Given the description of an element on the screen output the (x, y) to click on. 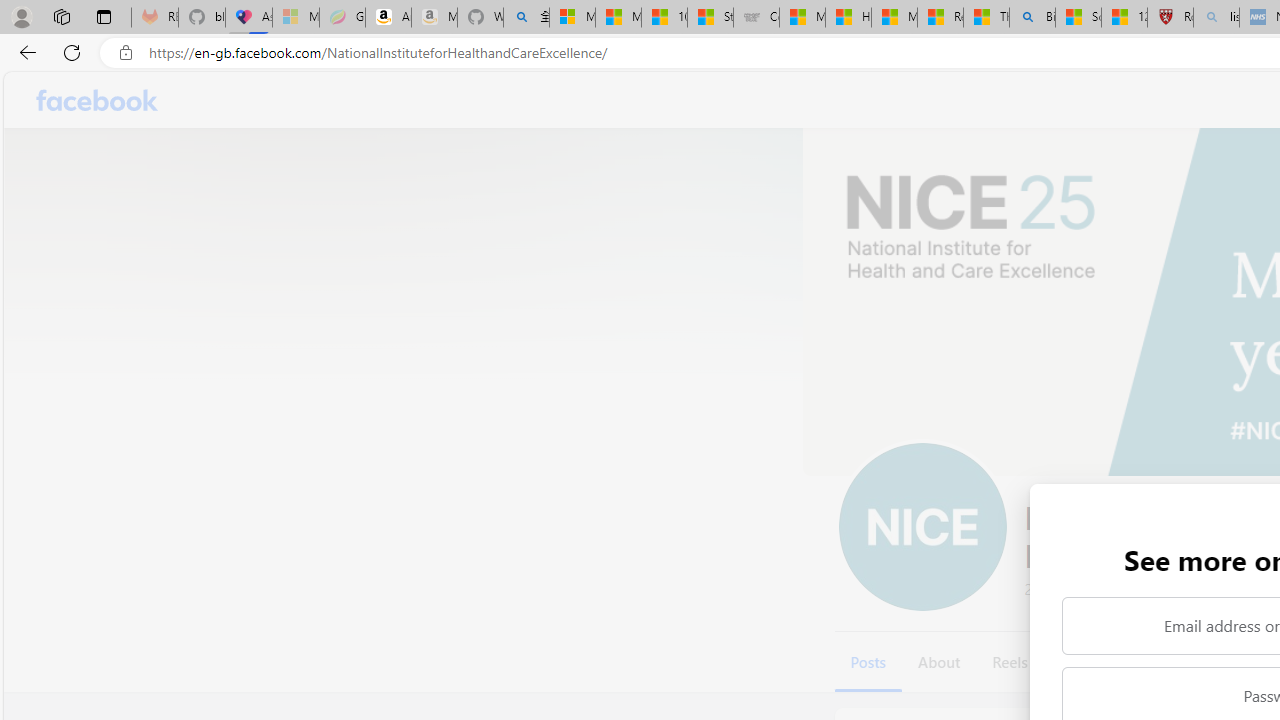
list of asthma inhalers uk - Search - Sleeping (1216, 17)
Microsoft-Report a Concern to Bing - Sleeping (295, 17)
Facebook (97, 99)
Recipes - MSN (939, 17)
View site information (125, 53)
How I Got Rid of Microsoft Edge's Unnecessary Features (848, 17)
Stocks - MSN (710, 17)
Asthma Inhalers: Names and Types (249, 17)
Robert H. Shmerling, MD - Harvard Health (1170, 17)
Combat Siege (756, 17)
Microsoft Start (893, 17)
